Given the description of an element on the screen output the (x, y) to click on. 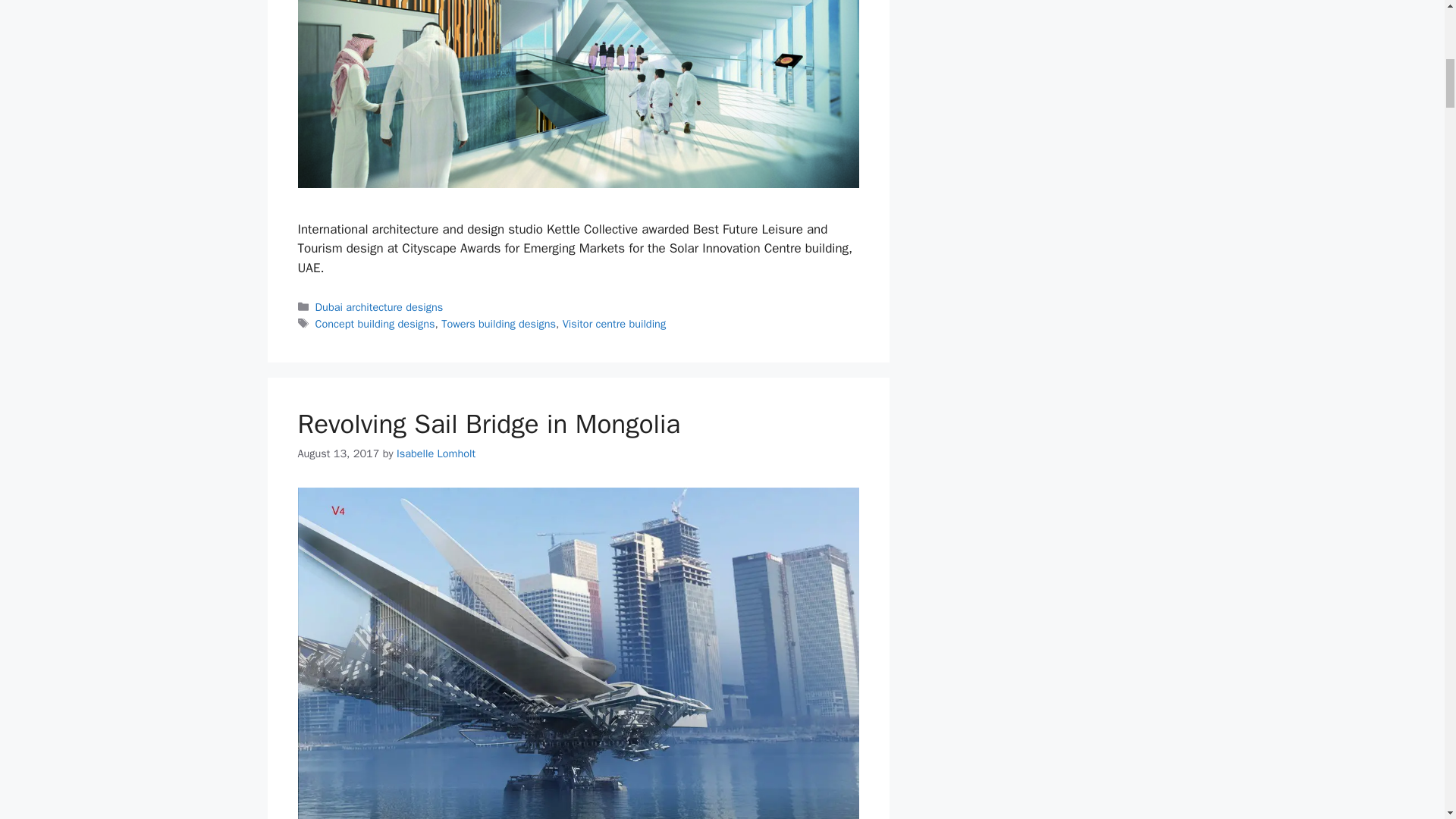
Revolving Sail Bridge in Mongolia (488, 423)
Towers building designs (498, 323)
Isabelle Lomholt (436, 453)
View all posts by Isabelle Lomholt (436, 453)
Dubai architecture designs (379, 306)
Concept building designs (375, 323)
Visitor centre building (613, 323)
